Given the description of an element on the screen output the (x, y) to click on. 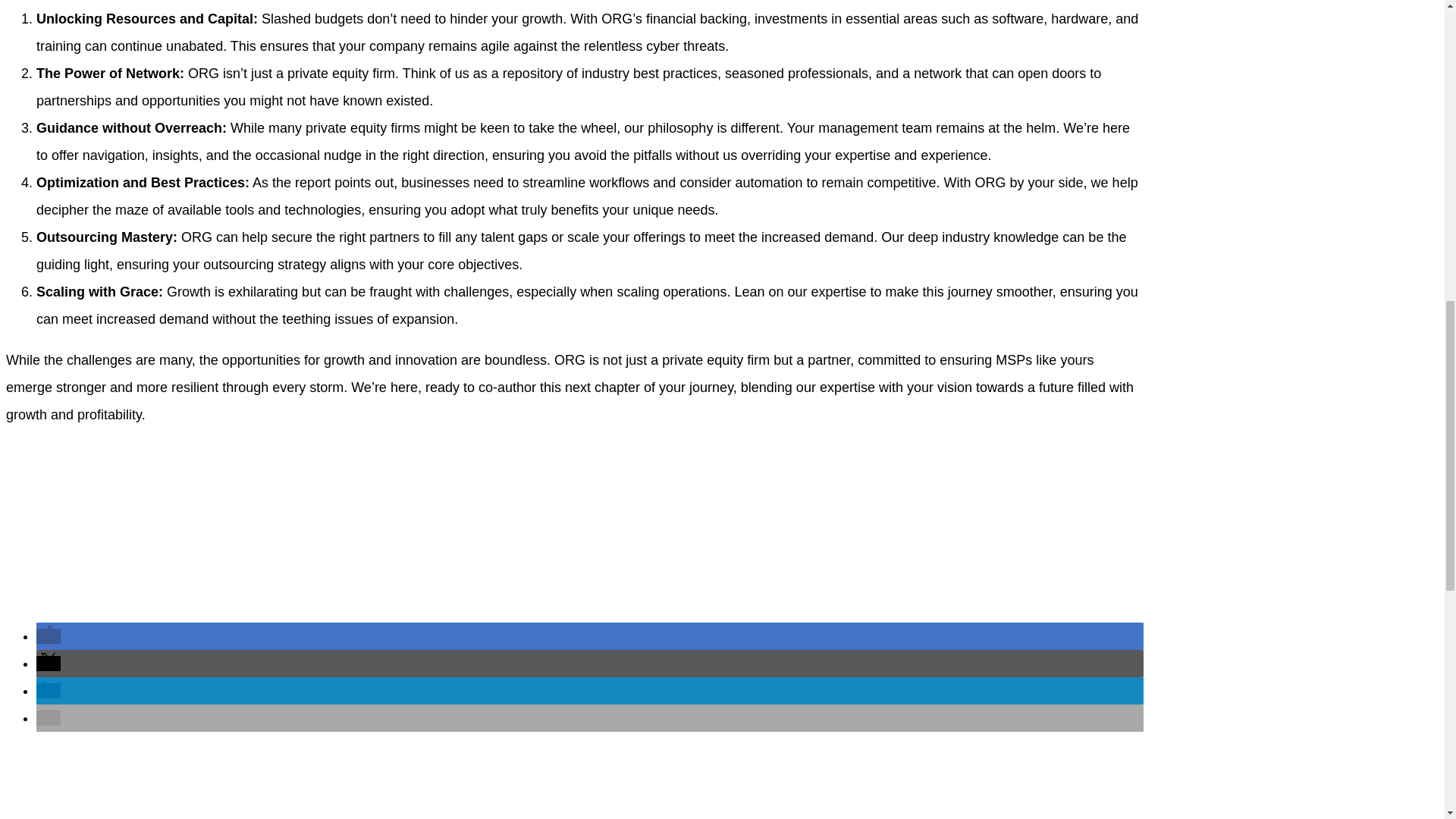
Share on Facebook (48, 635)
Share on LinkedIn (48, 689)
Share on X (48, 662)
Send by email (48, 717)
